Given the description of an element on the screen output the (x, y) to click on. 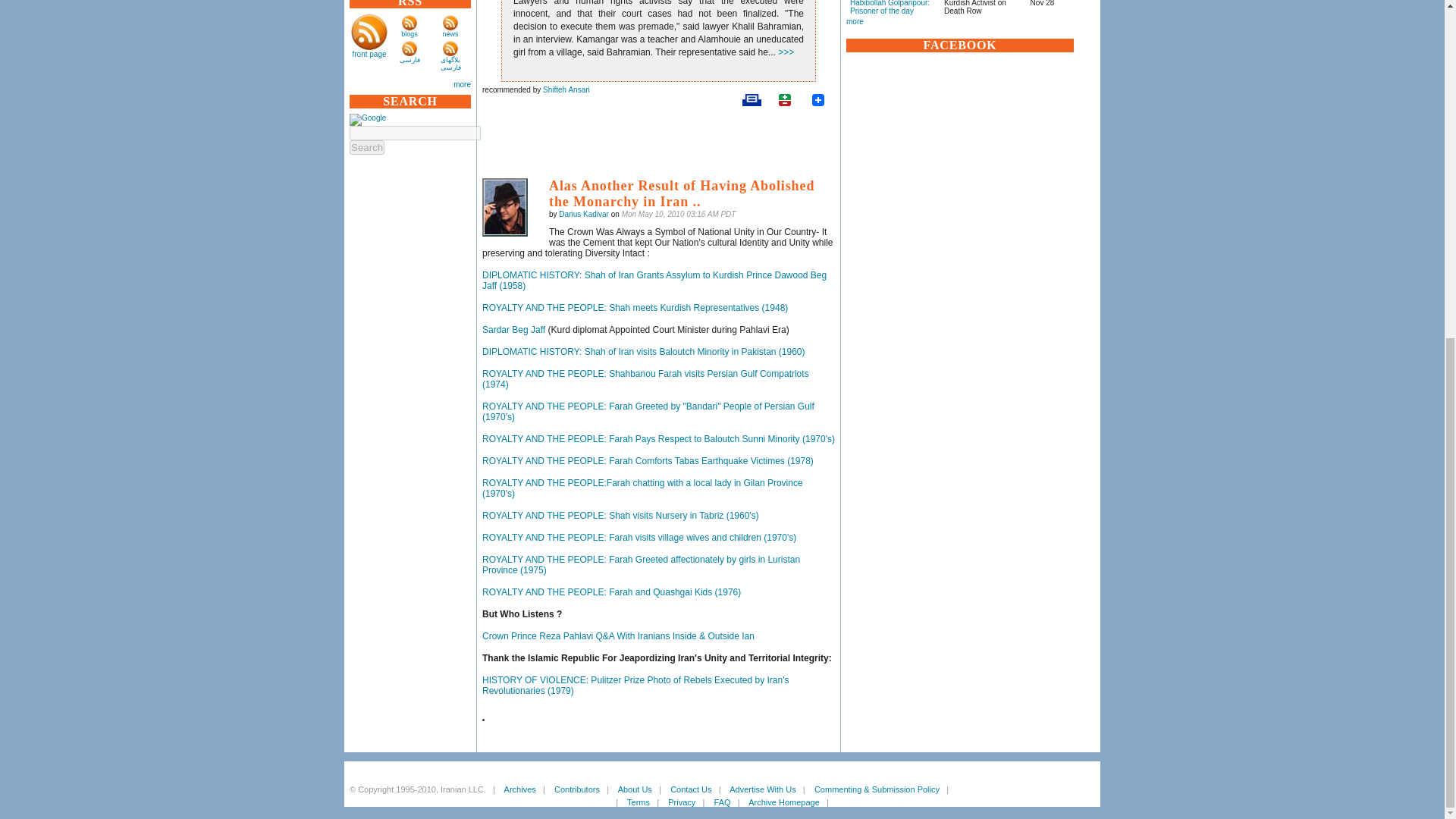
Google (367, 119)
Search (366, 147)
printer friendly (750, 100)
View user profile. (583, 213)
View user profile. (566, 89)
blogs (409, 33)
front page (368, 53)
news (450, 33)
